Given the description of an element on the screen output the (x, y) to click on. 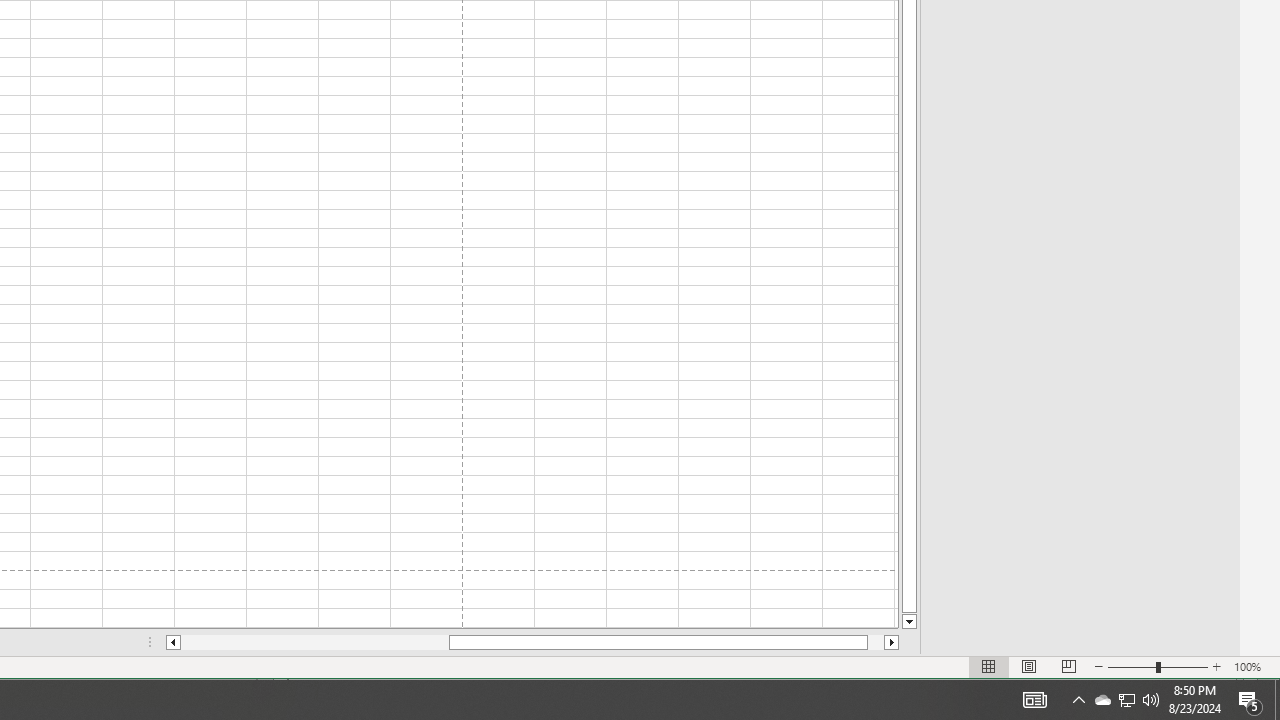
Page right (1126, 699)
